Given the description of an element on the screen output the (x, y) to click on. 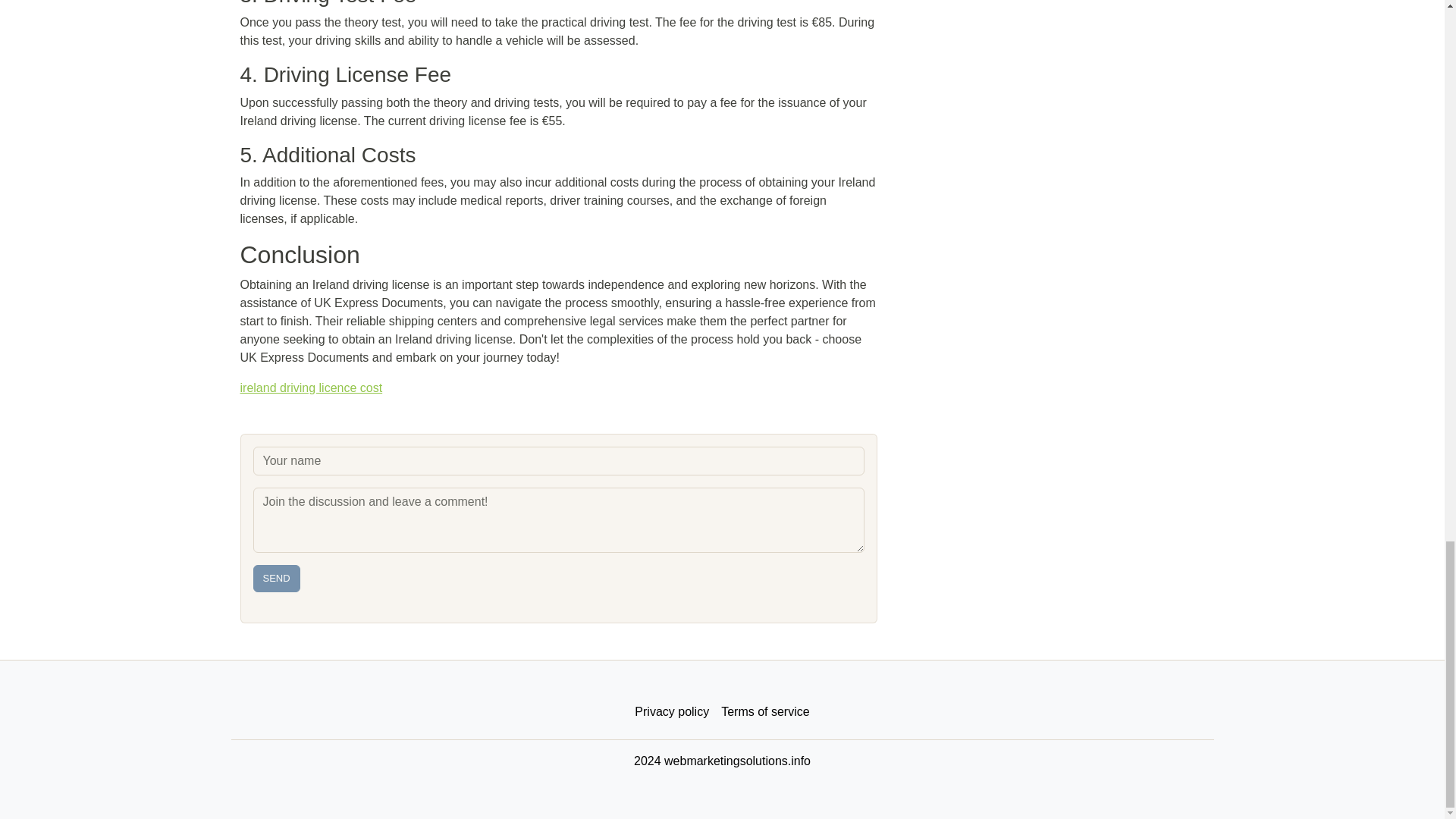
Send (276, 578)
Terms of service (764, 711)
Privacy policy (671, 711)
Send (276, 578)
ireland driving licence cost (310, 387)
